Given the description of an element on the screen output the (x, y) to click on. 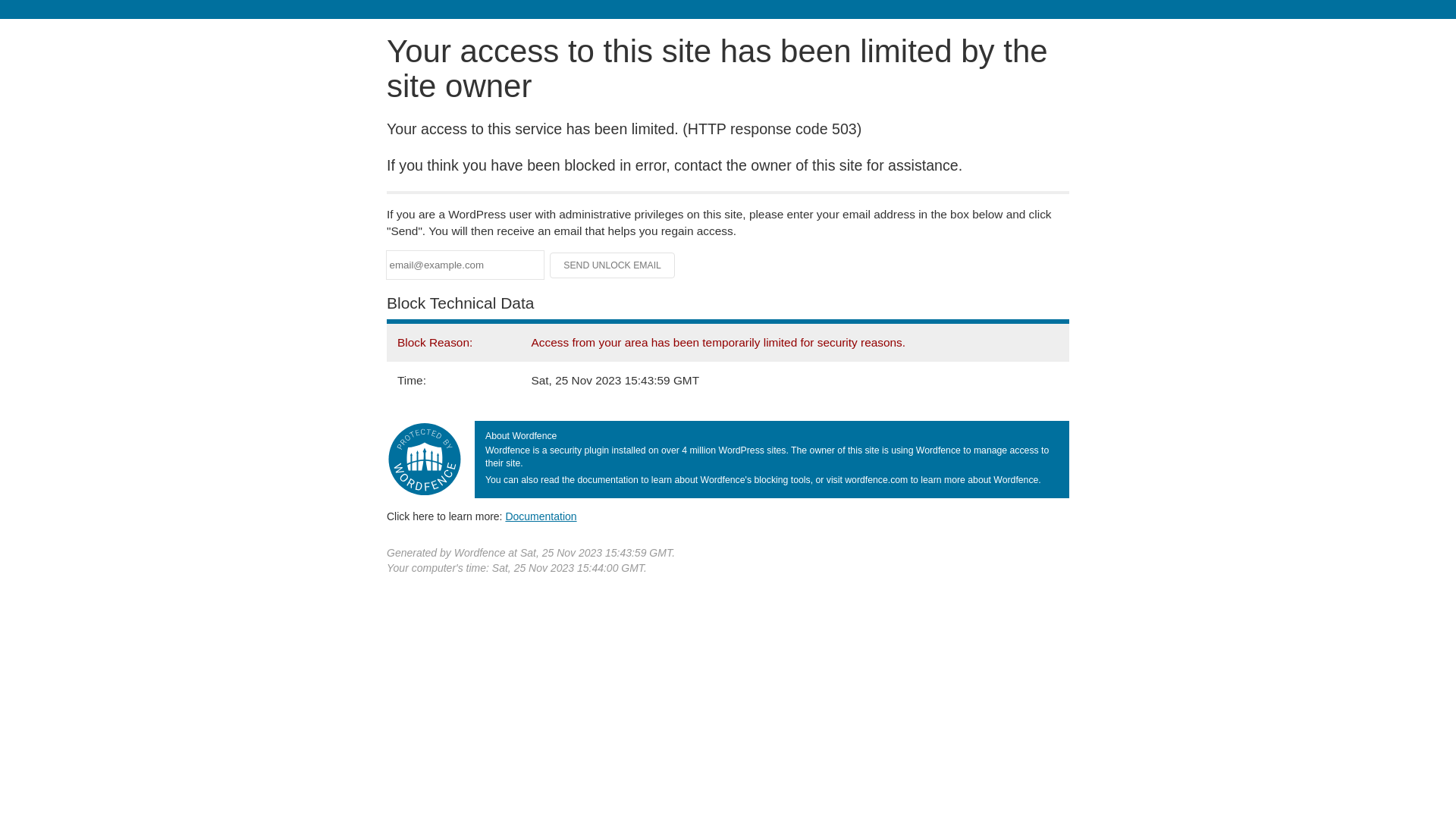
Documentation Element type: text (540, 516)
Send Unlock Email Element type: text (612, 265)
